Given the description of an element on the screen output the (x, y) to click on. 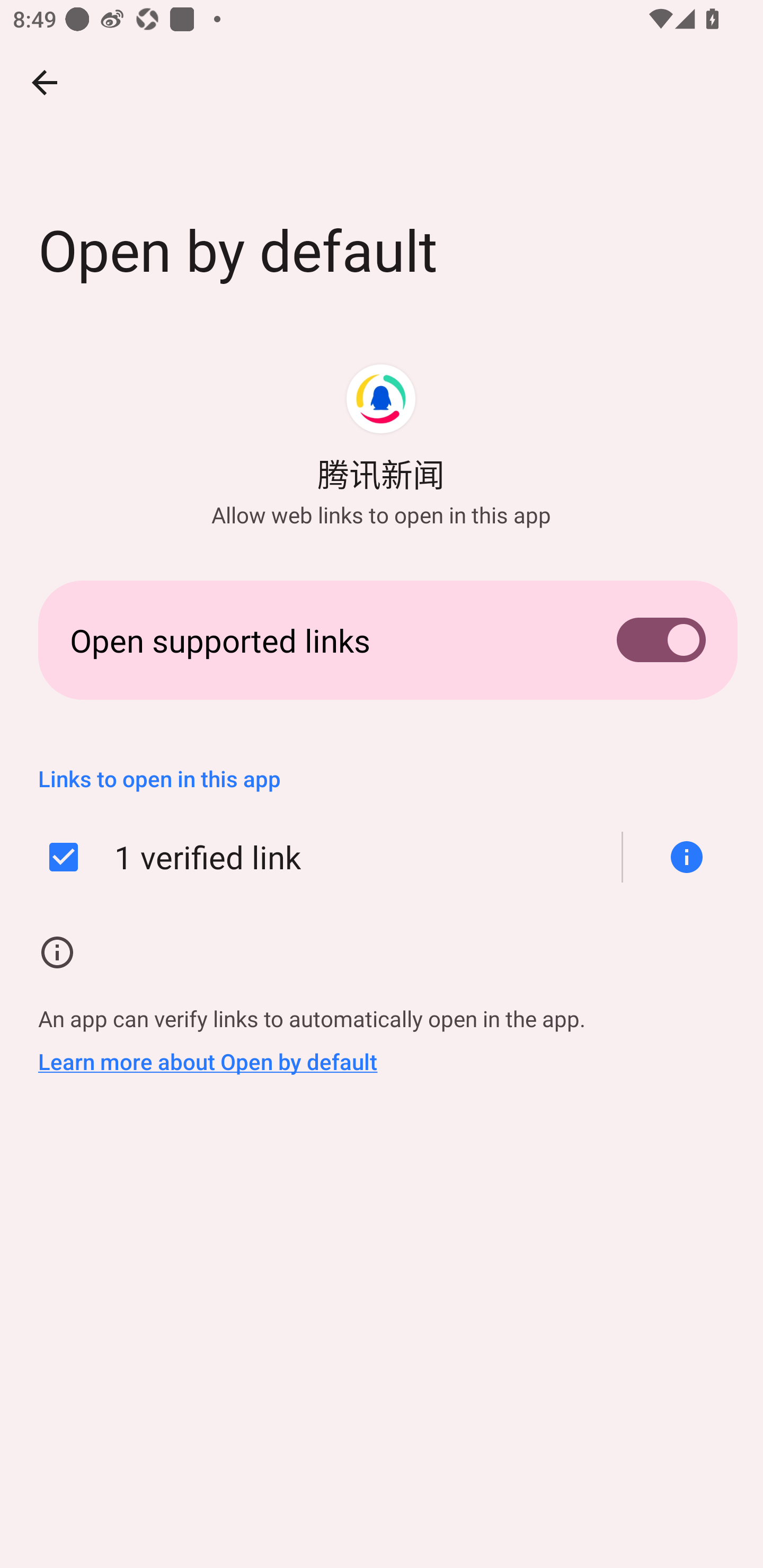
Navigate up (44, 82)
腾讯新闻 Allow web links to open in this app (380, 444)
Open supported links (381, 639)
1 verified link Show verified links list (381, 856)
Show verified links list (680, 856)
